Given the description of an element on the screen output the (x, y) to click on. 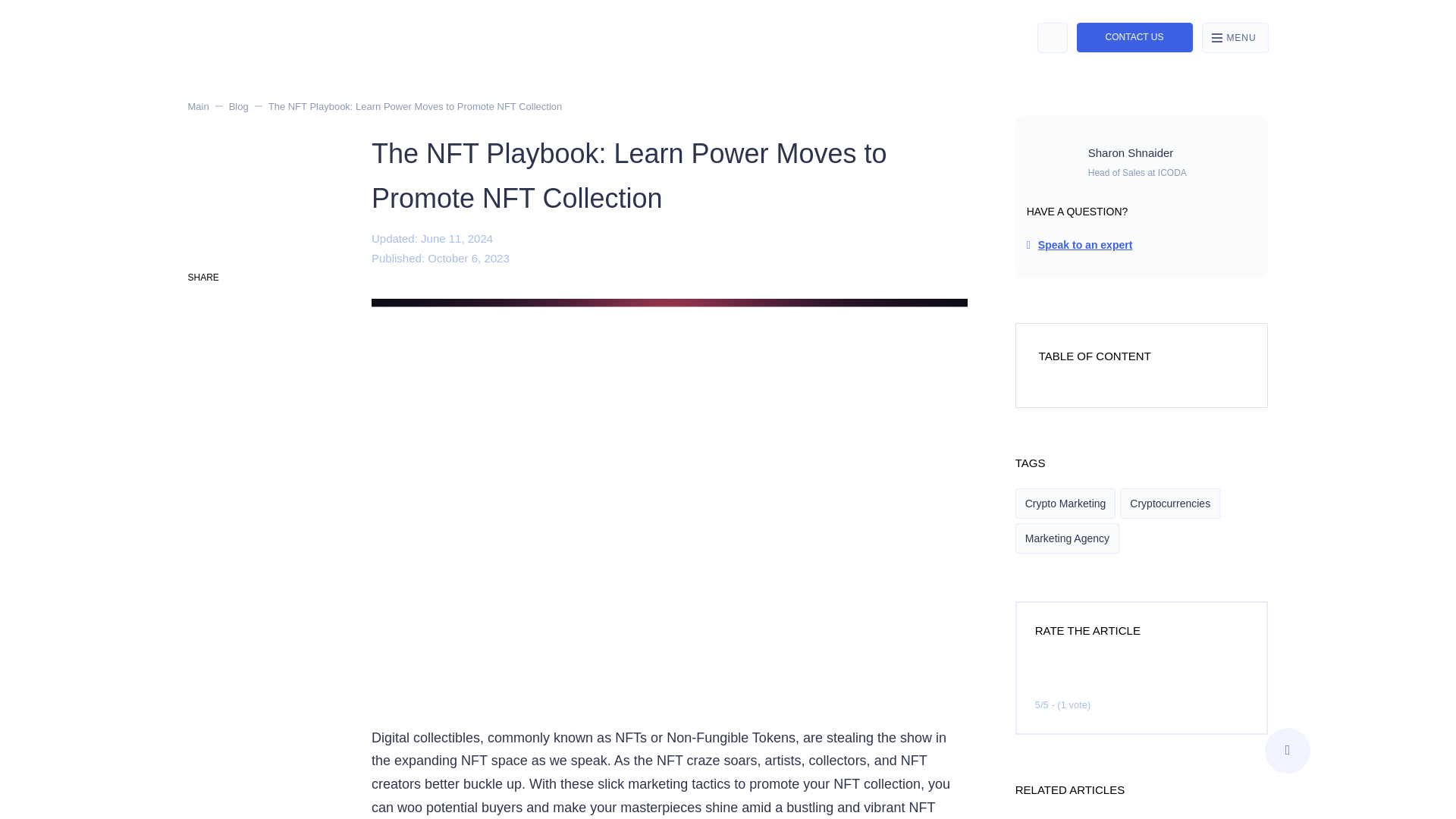
Share on Facebook (202, 391)
Share on Twitter (202, 318)
Share on Telegram (202, 355)
Share on Linkedin (202, 428)
Copy to clipboard (202, 464)
